Given the description of an element on the screen output the (x, y) to click on. 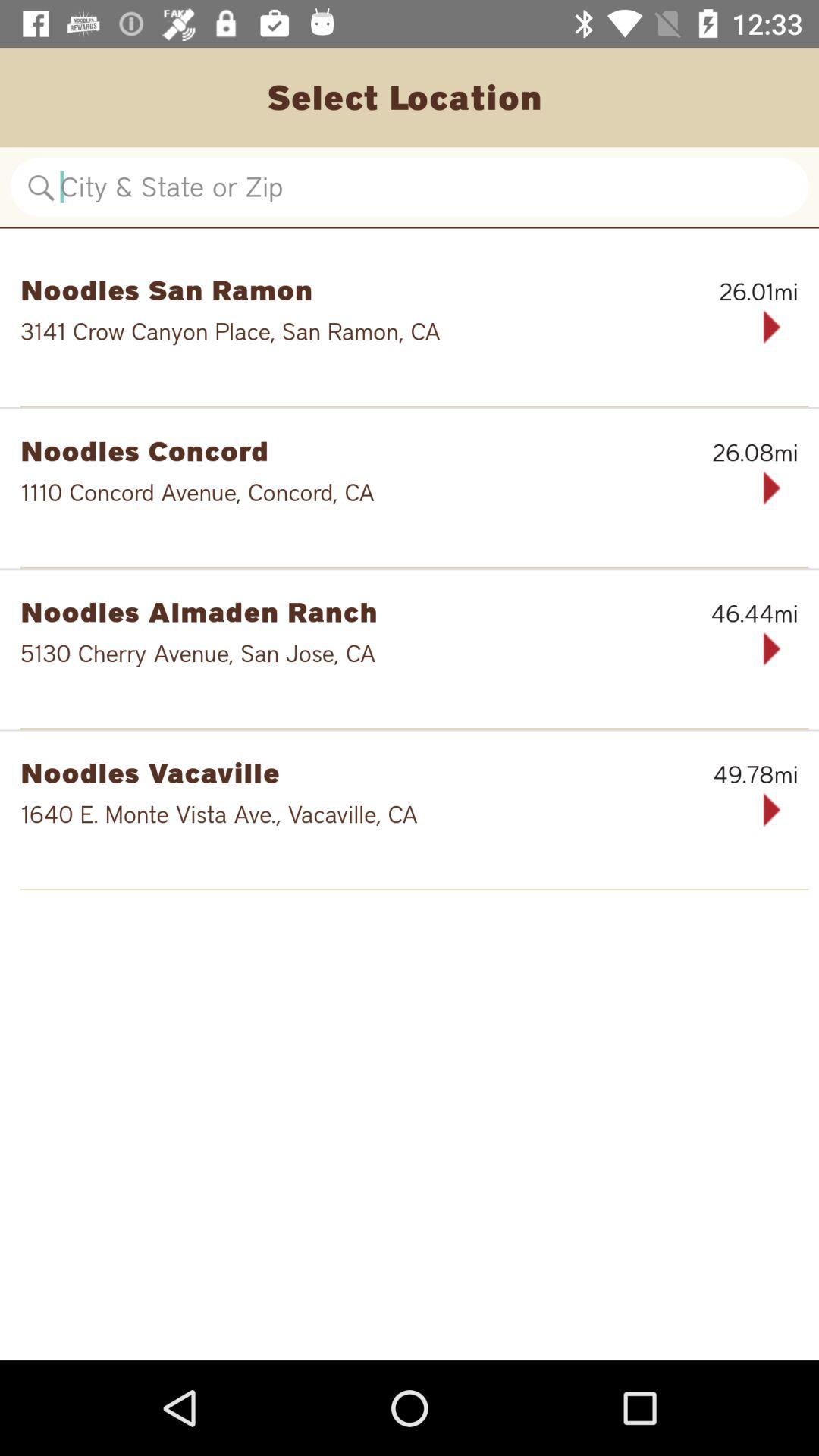
scroll to the 1110 concord avenue item (361, 492)
